Given the description of an element on the screen output the (x, y) to click on. 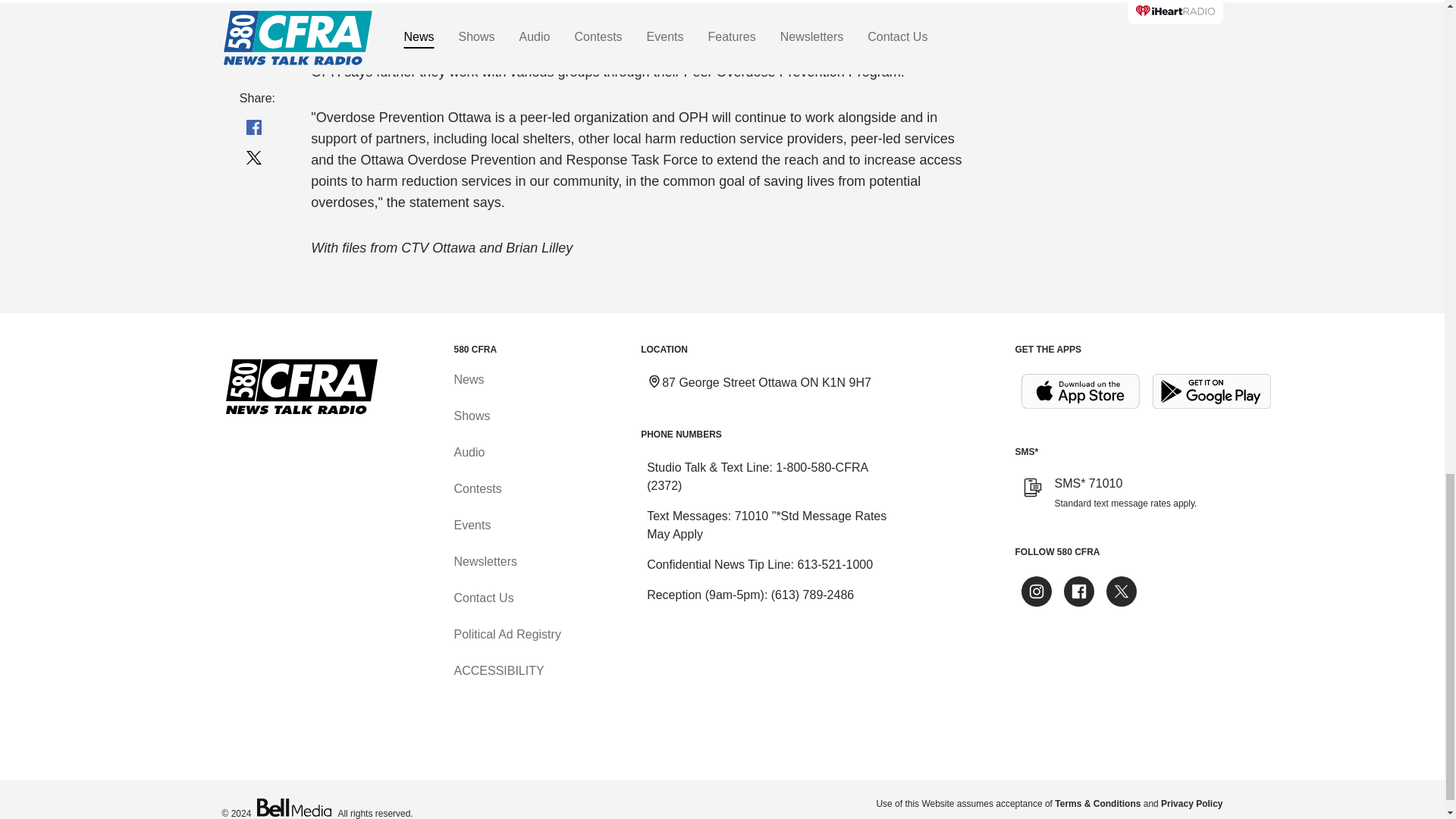
Audio (468, 451)
Contact Us (482, 597)
Political Ad Registry (506, 634)
Accessibility (497, 671)
Download on the App Store (1080, 391)
News (467, 379)
Contests (476, 488)
Events (471, 524)
Shows (470, 415)
ACCESSIBILITY (497, 671)
